Given the description of an element on the screen output the (x, y) to click on. 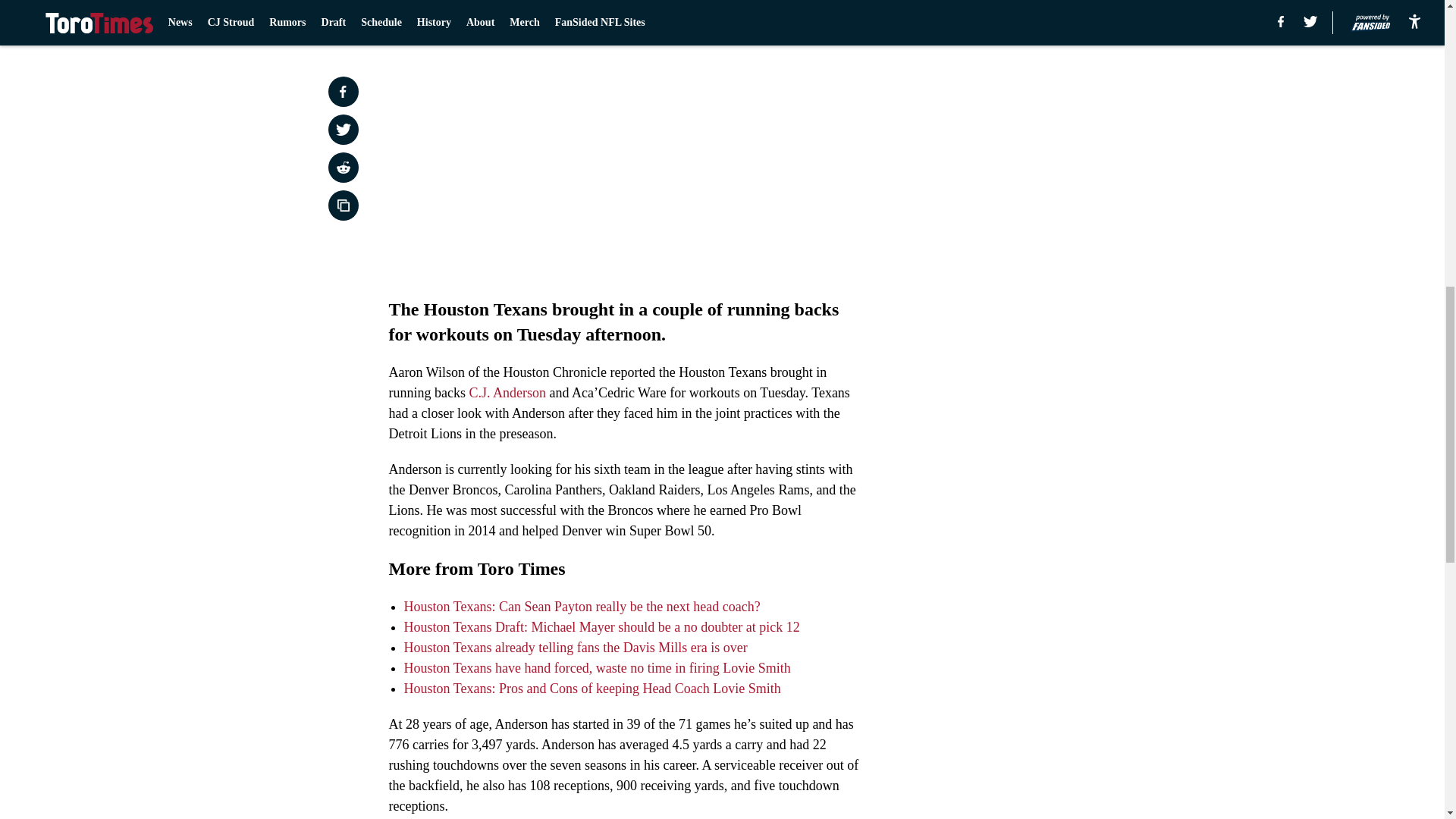
C.J. Anderson (507, 392)
